Given the description of an element on the screen output the (x, y) to click on. 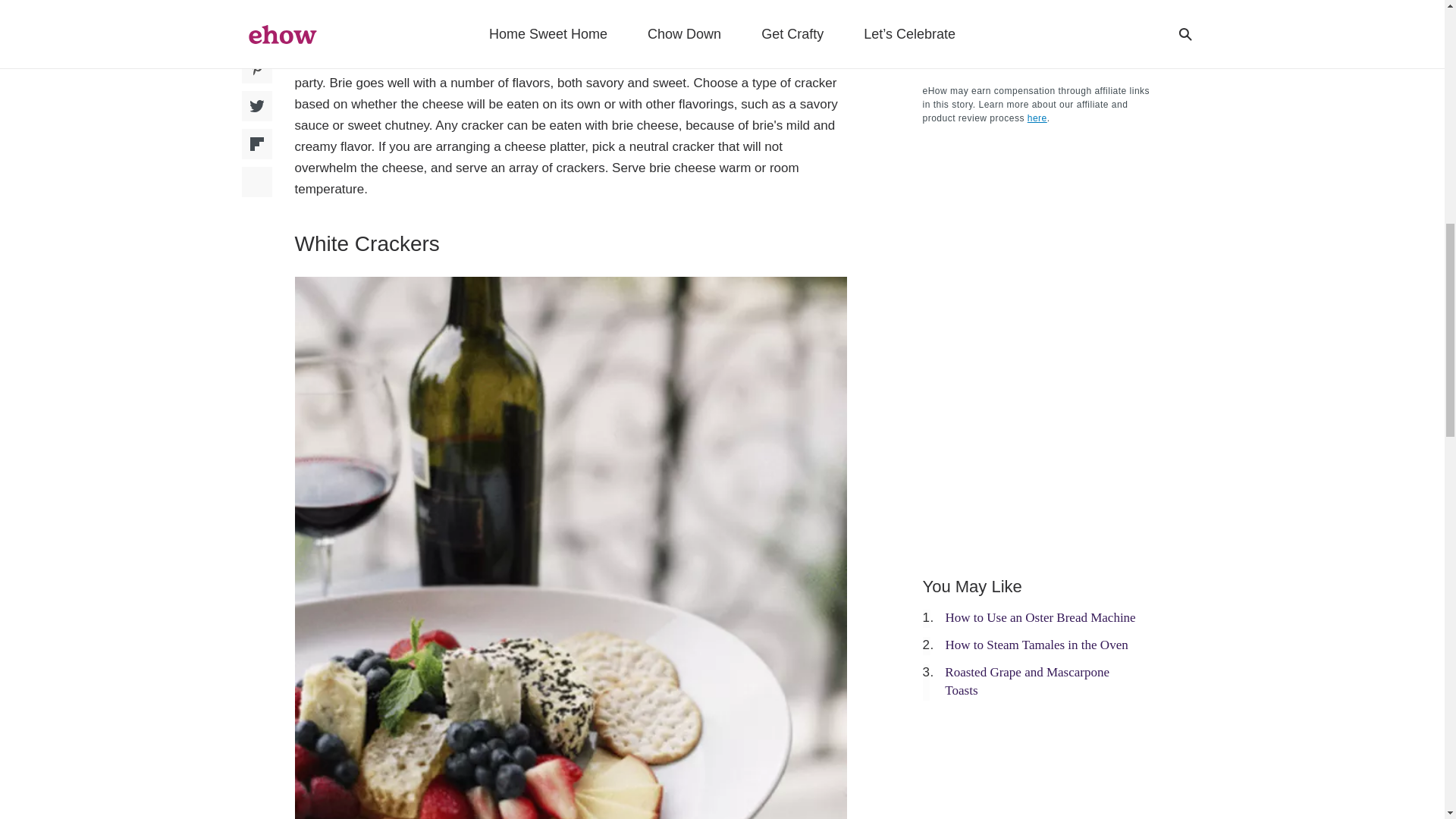
Roasted Grape and Mascarpone Toasts (1026, 681)
How to Steam Tamales in the Oven (1035, 644)
How to Use an Oster Bread Machine (1039, 617)
